Given the description of an element on the screen output the (x, y) to click on. 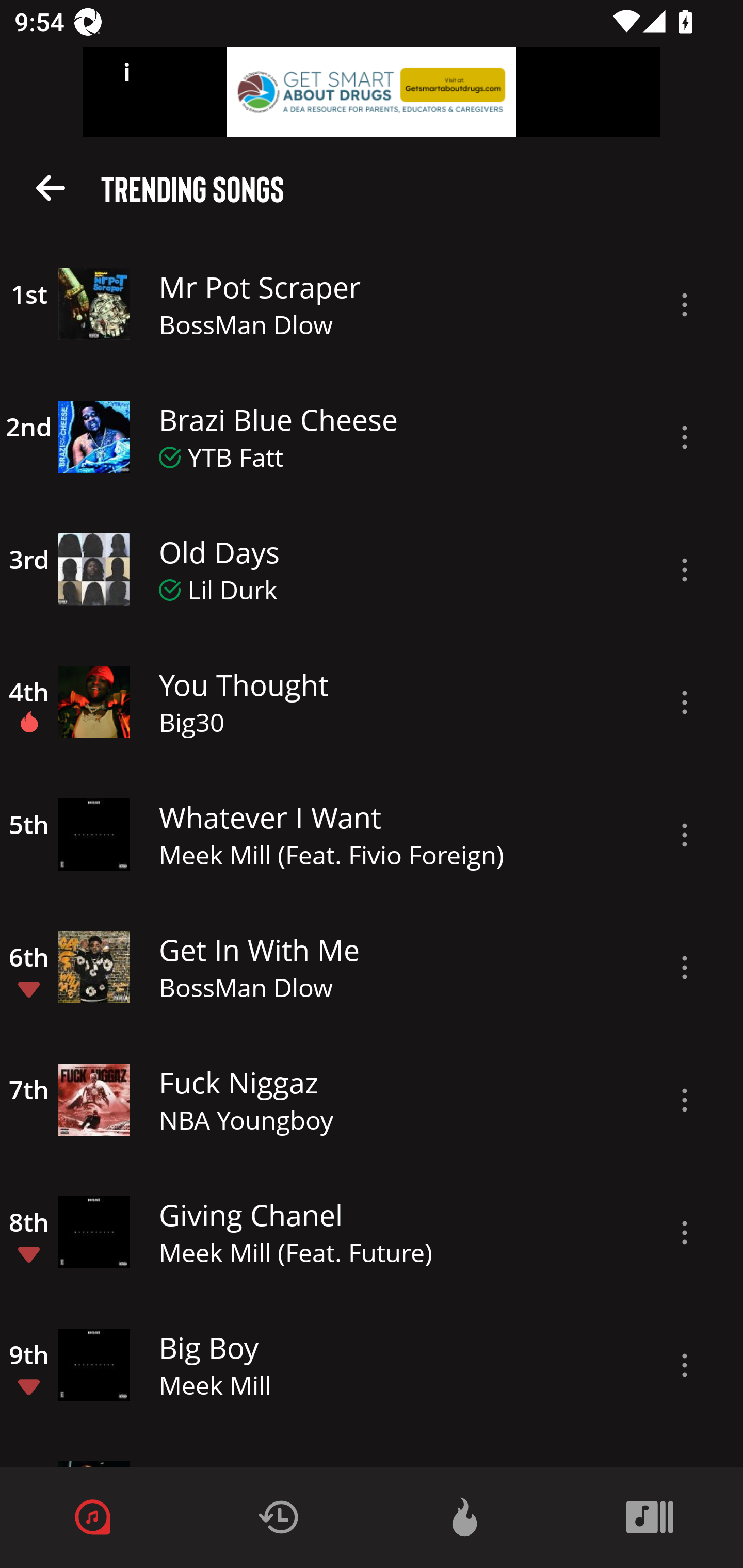
Description (685, 304)
Description (685, 437)
Description (685, 569)
Description (685, 702)
Description (685, 834)
Description (685, 968)
Description (685, 1099)
Description (685, 1233)
Description (685, 1364)
